Given the description of an element on the screen output the (x, y) to click on. 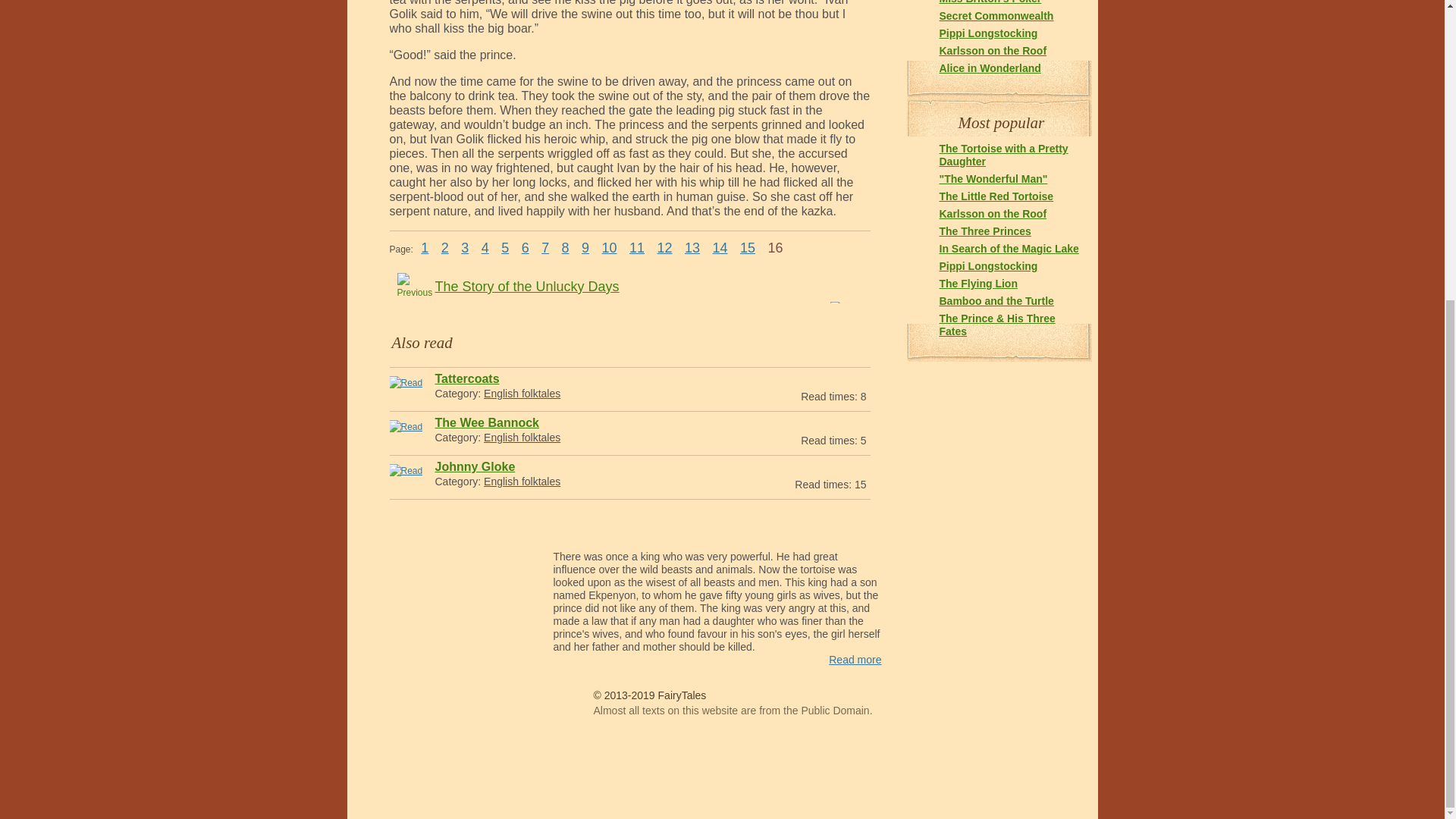
Alice in Wonderland (990, 68)
The Three Princes (984, 231)
In Search of the Magic Lake (1008, 248)
Karlsson on the Roof (992, 50)
Pippi Longstocking (987, 33)
Pippi Longstocking (987, 265)
Secret Commonwealth (995, 15)
Miss Britton's Poker (990, 2)
Karlsson on the Roof (992, 214)
The Tortoise with a Pretty Daughter (1003, 154)
The Little Red Tortoise (995, 196)
The Flying Lion (977, 283)
Bamboo and the Turtle (995, 300)
"The Wonderful Man" (992, 178)
